Given the description of an element on the screen output the (x, y) to click on. 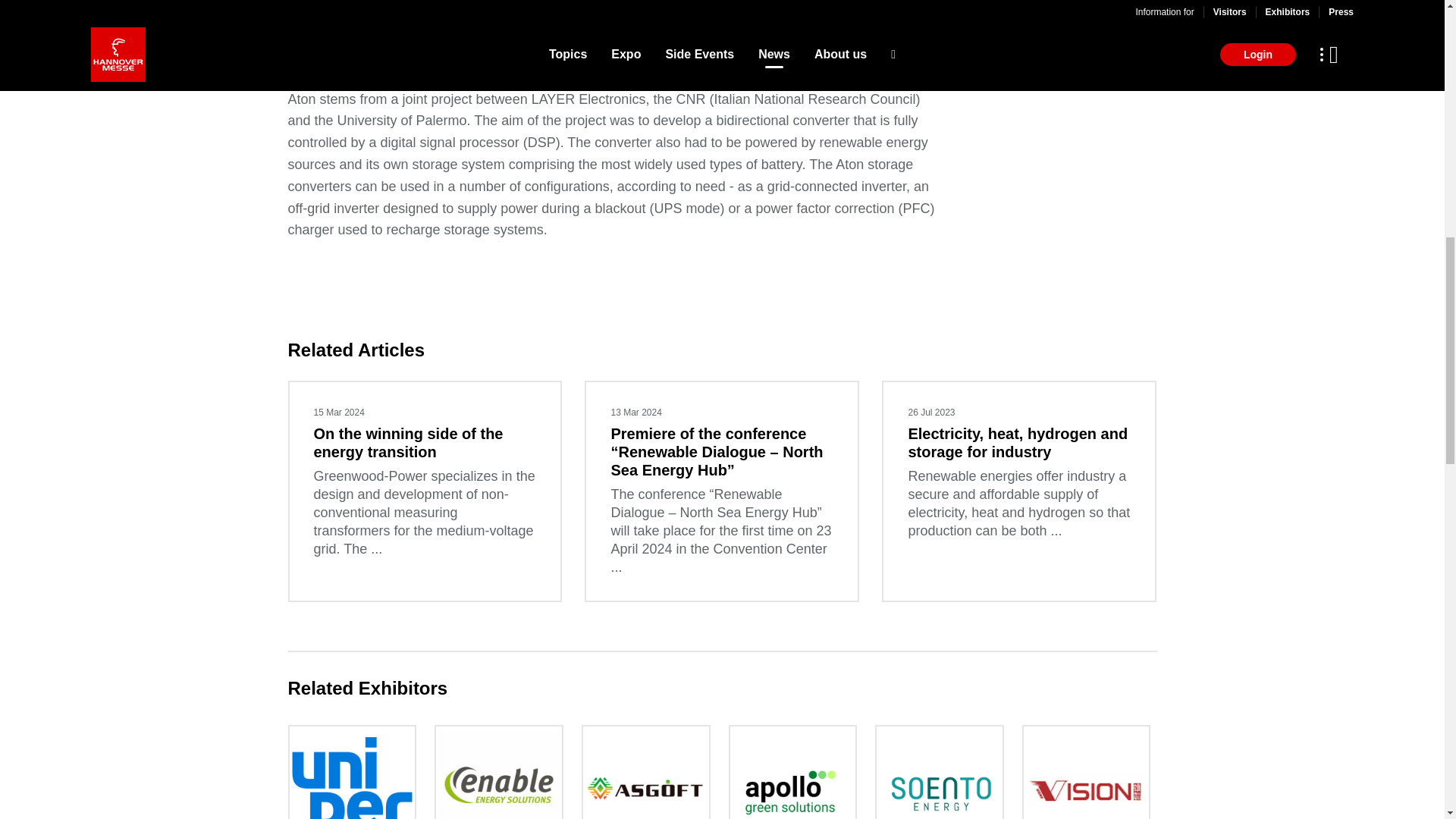
enable energy solutions (498, 771)
Uniper Energy Sales (352, 771)
Apollo Green Solutions (792, 771)
Vision Europe (1086, 771)
Guangdong Asgoft New Energy (645, 771)
